Given the description of an element on the screen output the (x, y) to click on. 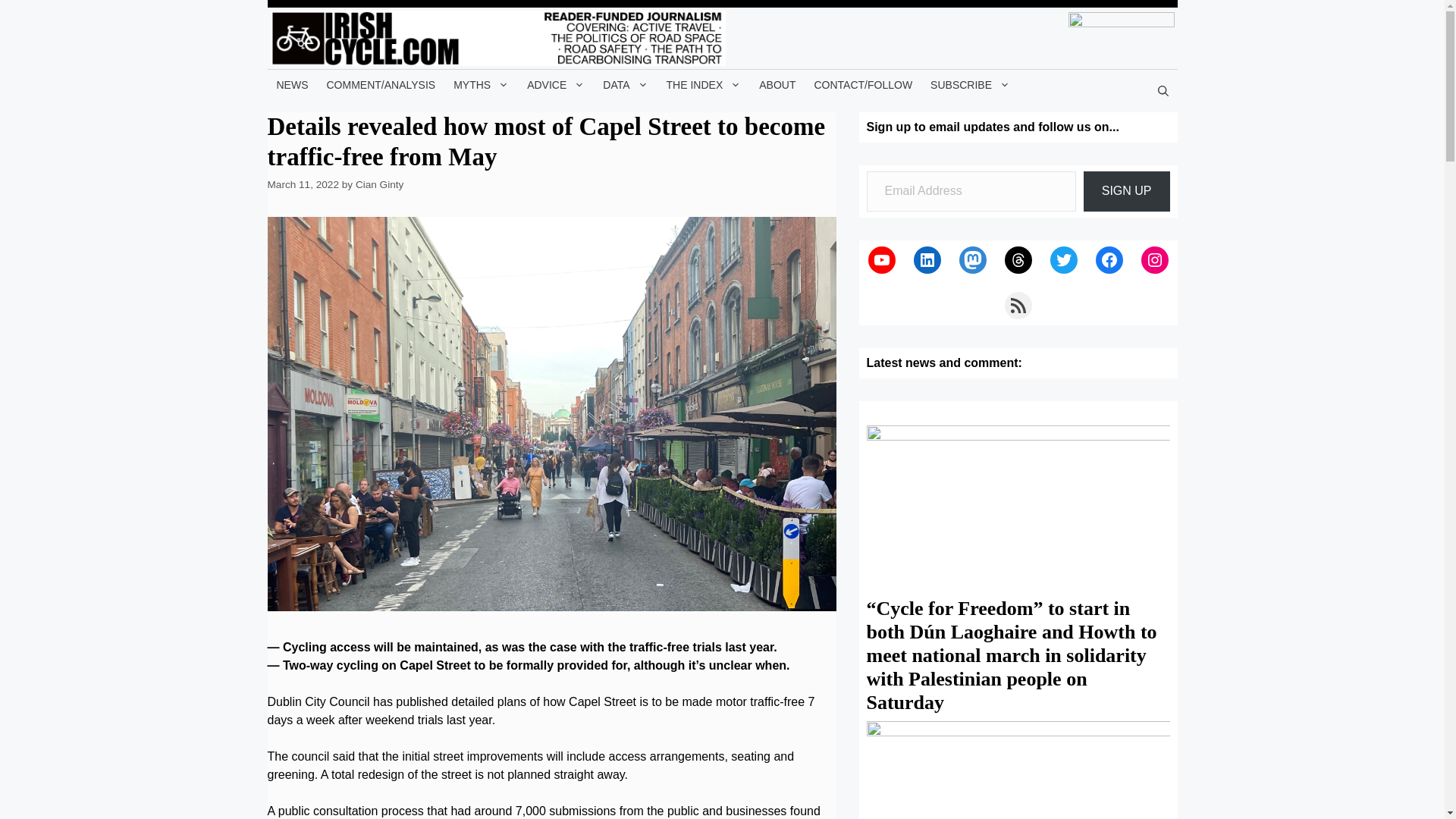
Cian Ginty (379, 184)
ABOUT (777, 84)
MYTHS (481, 84)
View all posts by Cian Ginty (379, 184)
THE INDEX (704, 84)
NEWS (291, 84)
SUBSCRIBE (970, 84)
ADVICE (556, 84)
Please fill in this field. (970, 191)
DATA (625, 84)
